Given the description of an element on the screen output the (x, y) to click on. 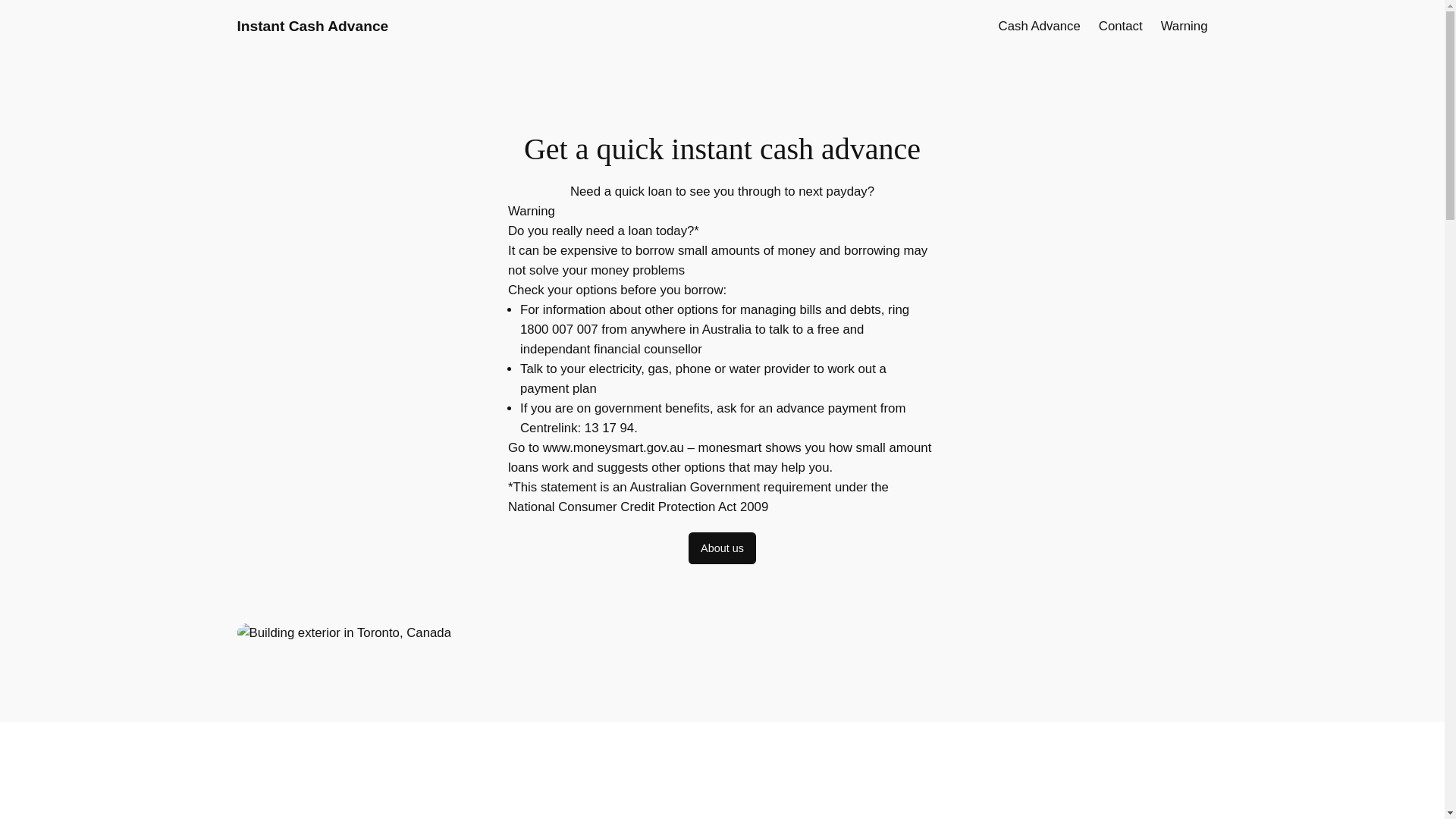
Contact Element type: text (1120, 26)
Instant Cash Advance Element type: text (312, 26)
About us Element type: text (722, 548)
Cash Advance Element type: text (1039, 26)
Warning Element type: text (1184, 26)
